Given the description of an element on the screen output the (x, y) to click on. 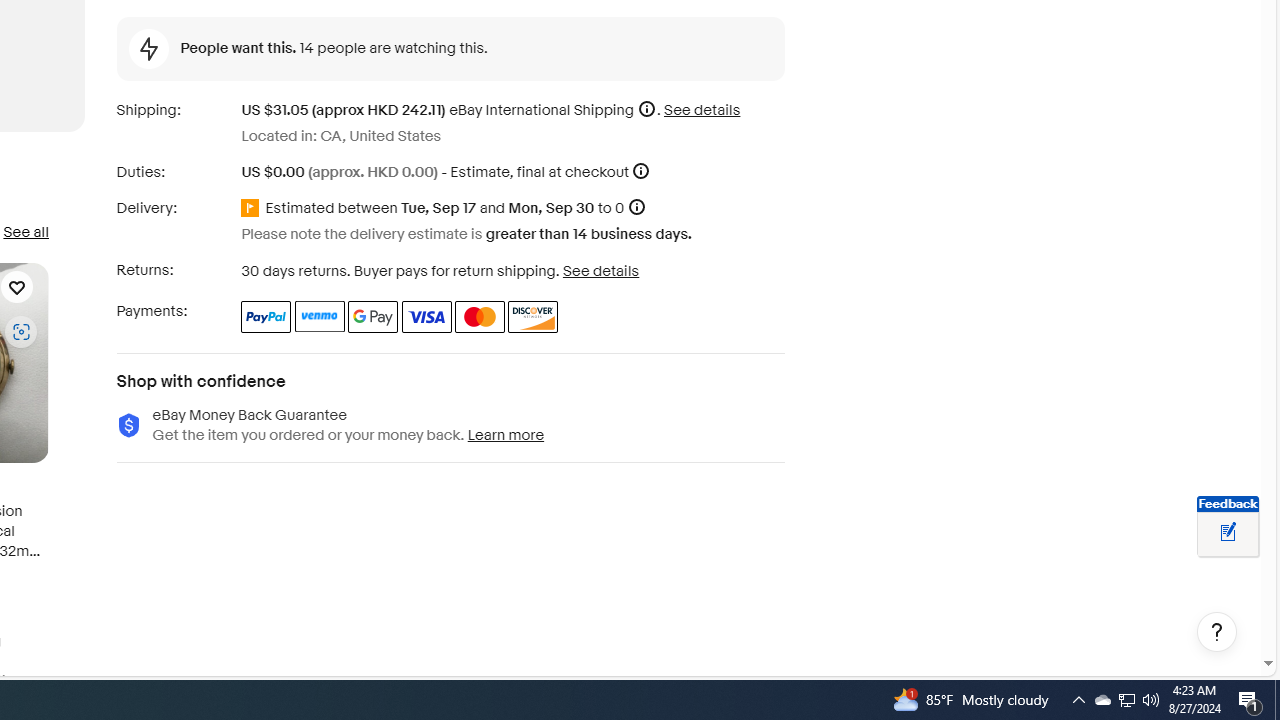
PayPal (265, 316)
See all (25, 232)
Google Pay (373, 316)
Visa (425, 316)
Delivery alert flag (253, 209)
Venmo (319, 316)
See details - for more information about returns (600, 270)
See details for shipping (702, 110)
More information (641, 171)
Master Card (479, 316)
Leave feedback about your eBay ViewItem experience (1227, 533)
